Given the description of an element on the screen output the (x, y) to click on. 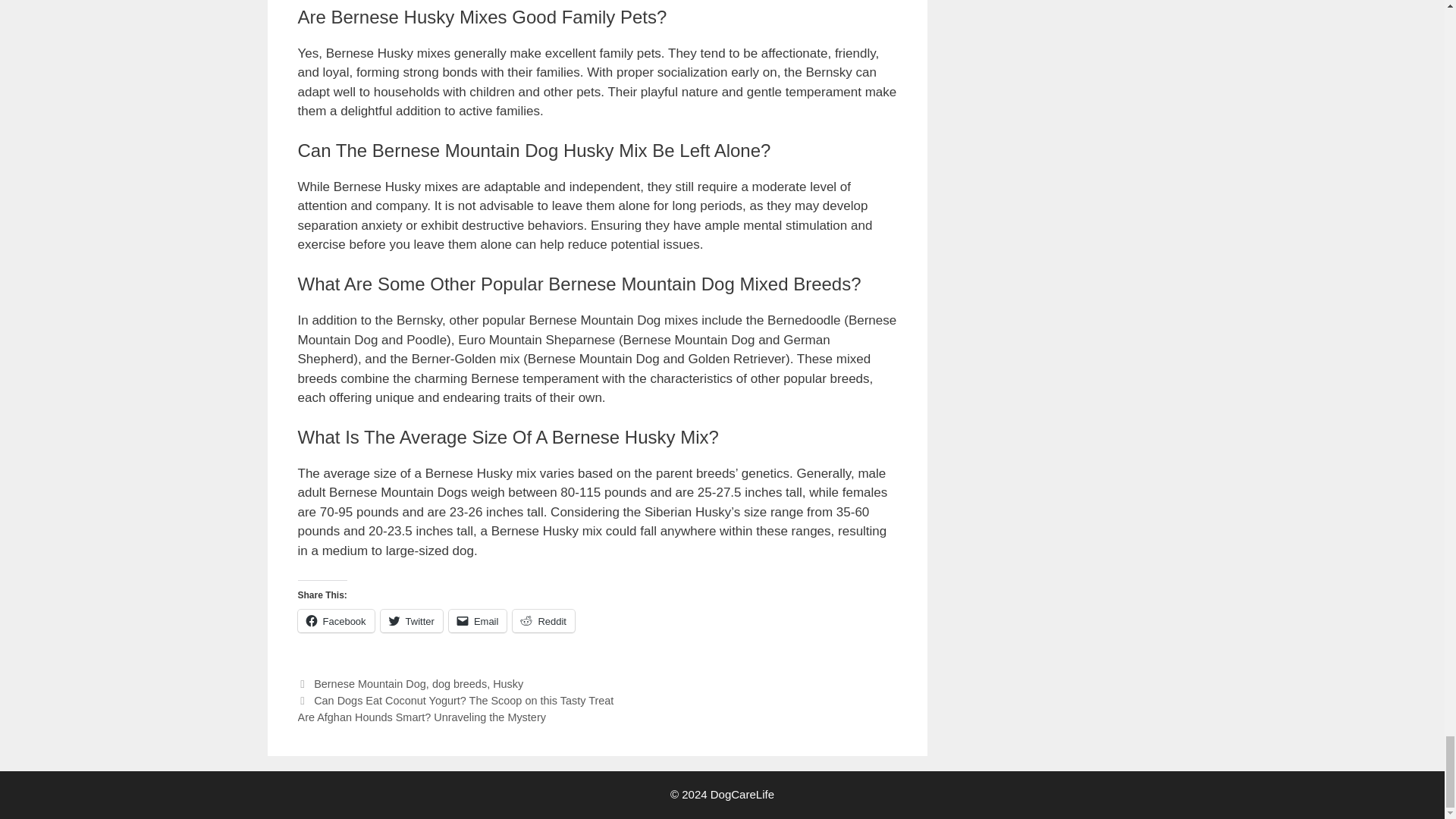
Click to email a link to a friend (477, 620)
Can Dogs Eat Coconut Yogurt? The Scoop on this Tasty Treat (463, 700)
Click to share on Twitter (411, 620)
Bernese Mountain Dog (370, 684)
Email (477, 620)
Reddit (543, 620)
Twitter (411, 620)
dog breeds (459, 684)
Facebook (335, 620)
Click to share on Facebook (335, 620)
